Given the description of an element on the screen output the (x, y) to click on. 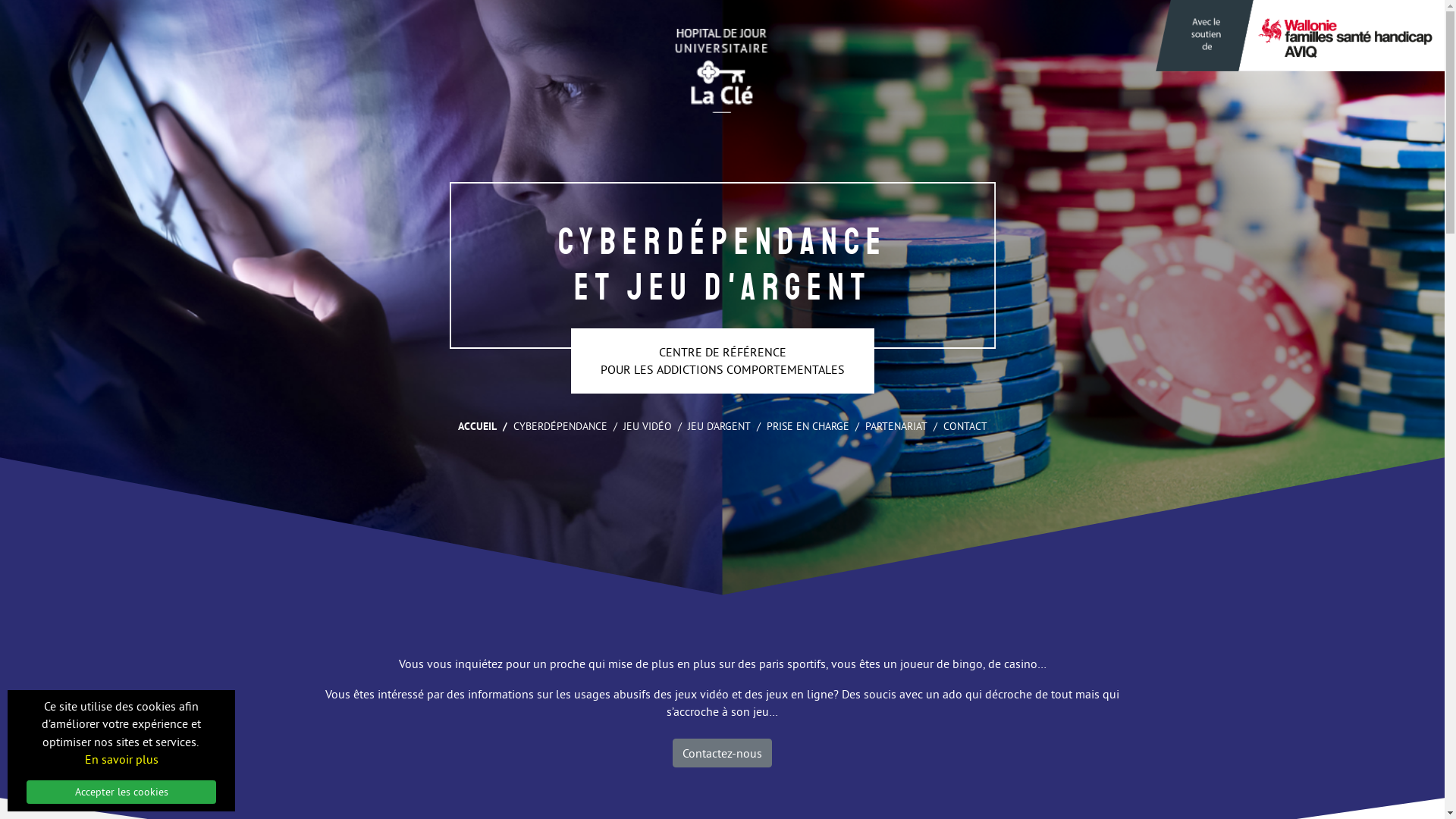
ACCUEIL Element type: text (476, 429)
PARTENARIAT Element type: text (895, 429)
Accepter les cookies Element type: text (121, 791)
CONTACT Element type: text (965, 429)
JEU D'ARGENT Element type: text (718, 429)
En savoir plus Element type: text (121, 759)
PRISE EN CHARGE Element type: text (806, 429)
Contactez-nous Element type: text (721, 752)
